Given the description of an element on the screen output the (x, y) to click on. 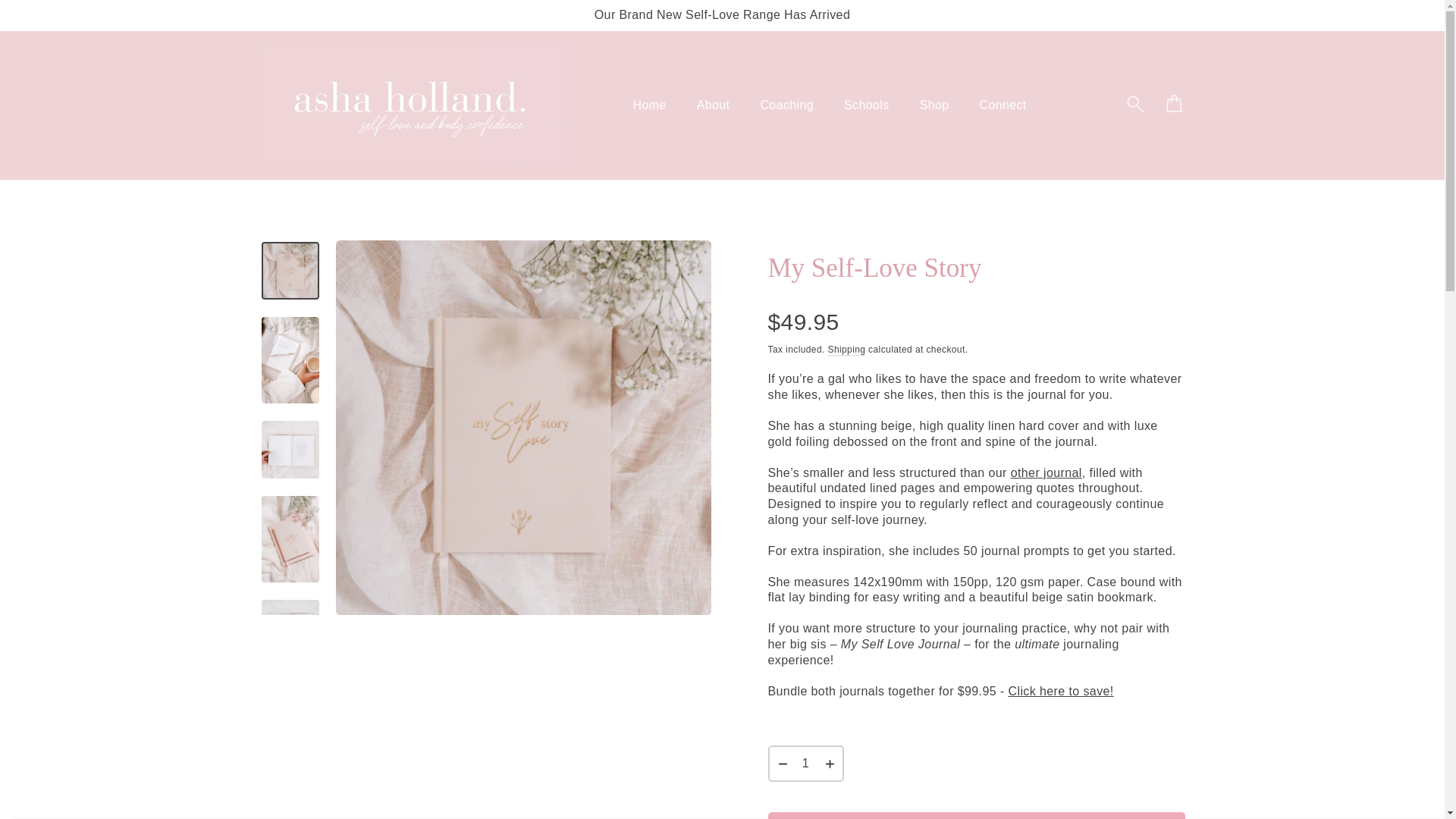
1 (805, 763)
My Self Love Journal (1045, 472)
